Given the description of an element on the screen output the (x, y) to click on. 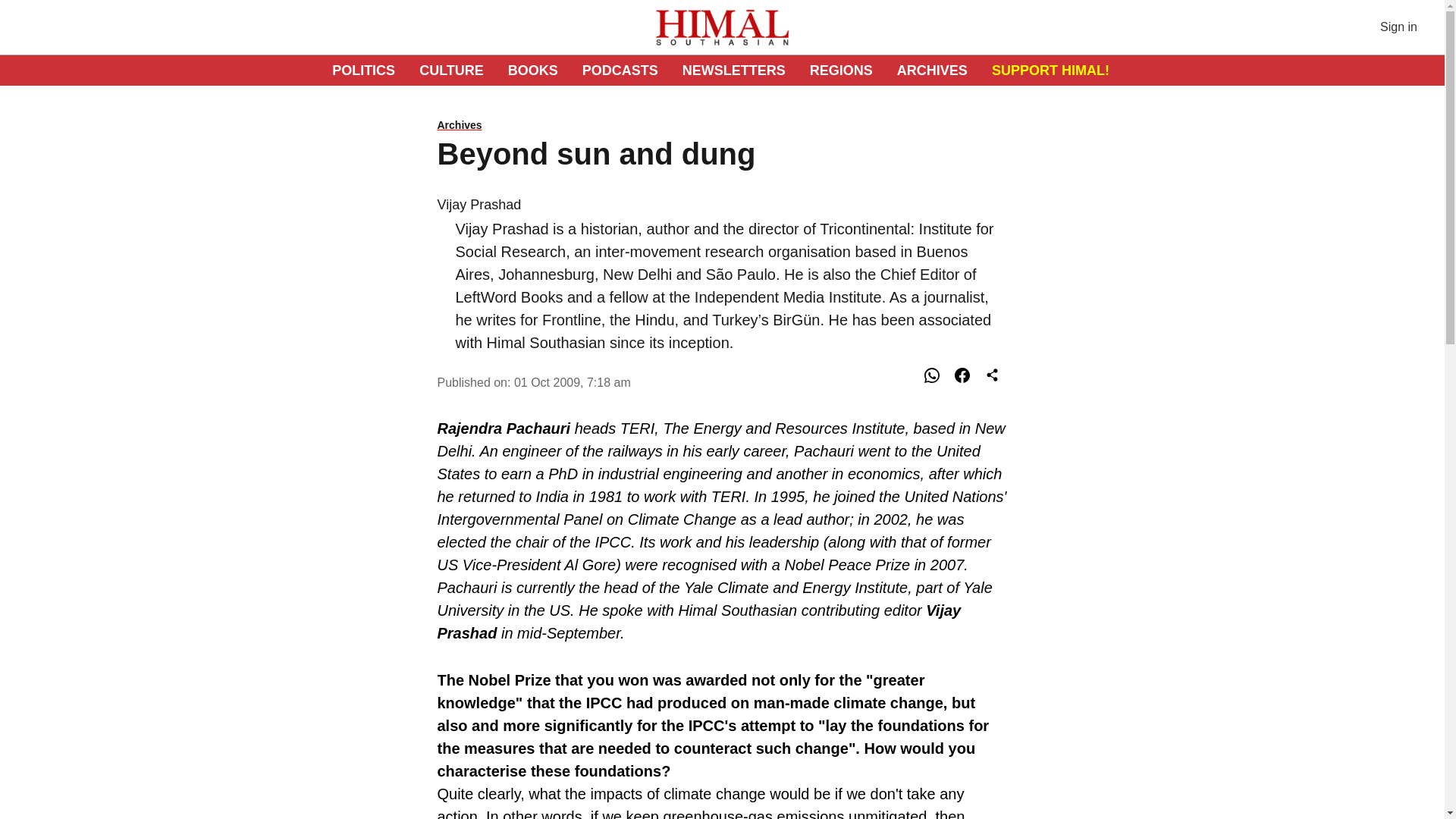
CULTURE (451, 70)
SUPPORT HIMAL! (1050, 70)
BOOKS (532, 70)
Vijay Prashad (478, 204)
Archives (721, 125)
NEWSLETTERS (734, 70)
PODCASTS (620, 70)
2009-09-30 23:18 (571, 382)
POLITICS (362, 70)
